Given the description of an element on the screen output the (x, y) to click on. 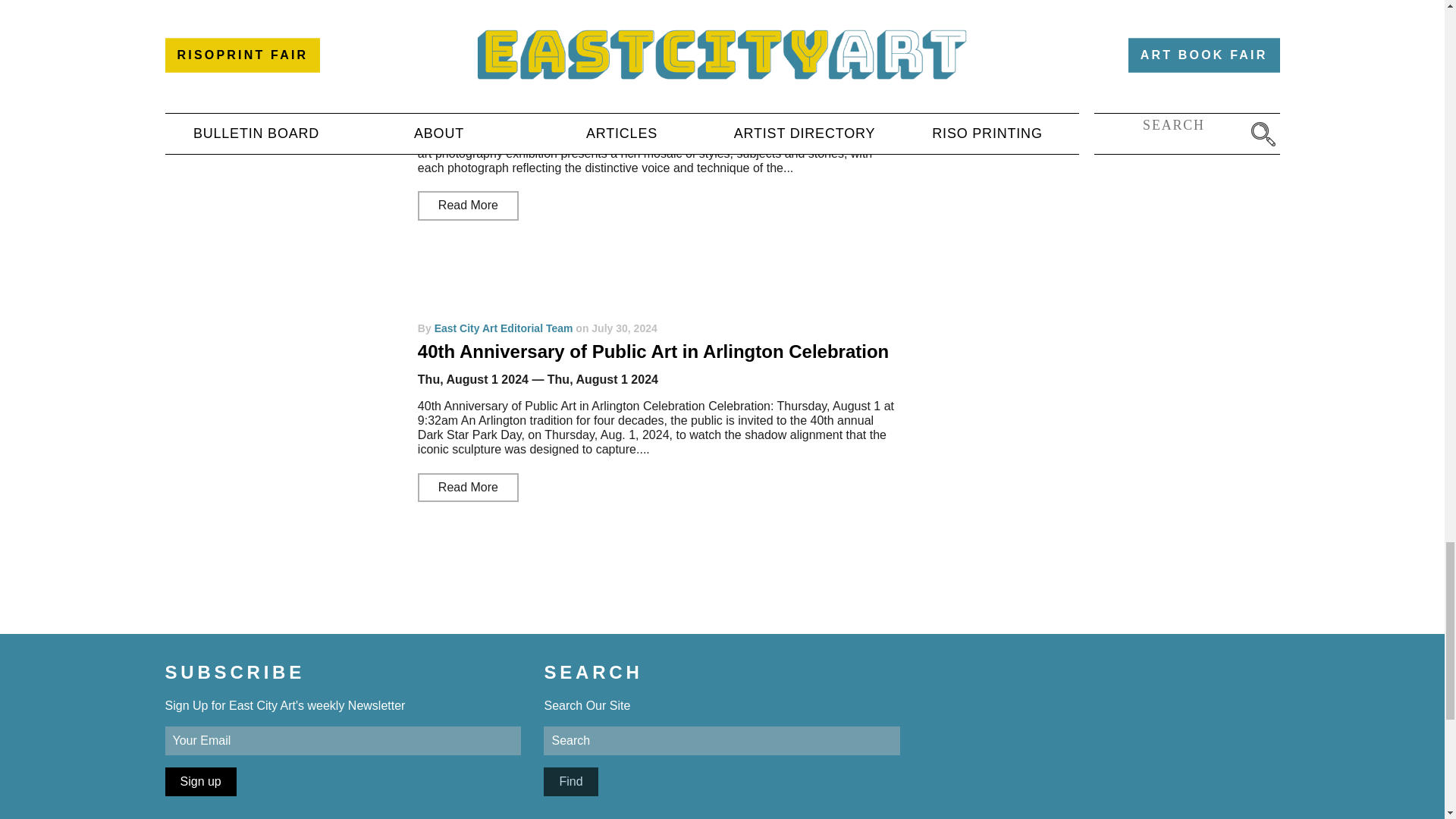
Sign up (200, 781)
Find (569, 781)
